Given the description of an element on the screen output the (x, y) to click on. 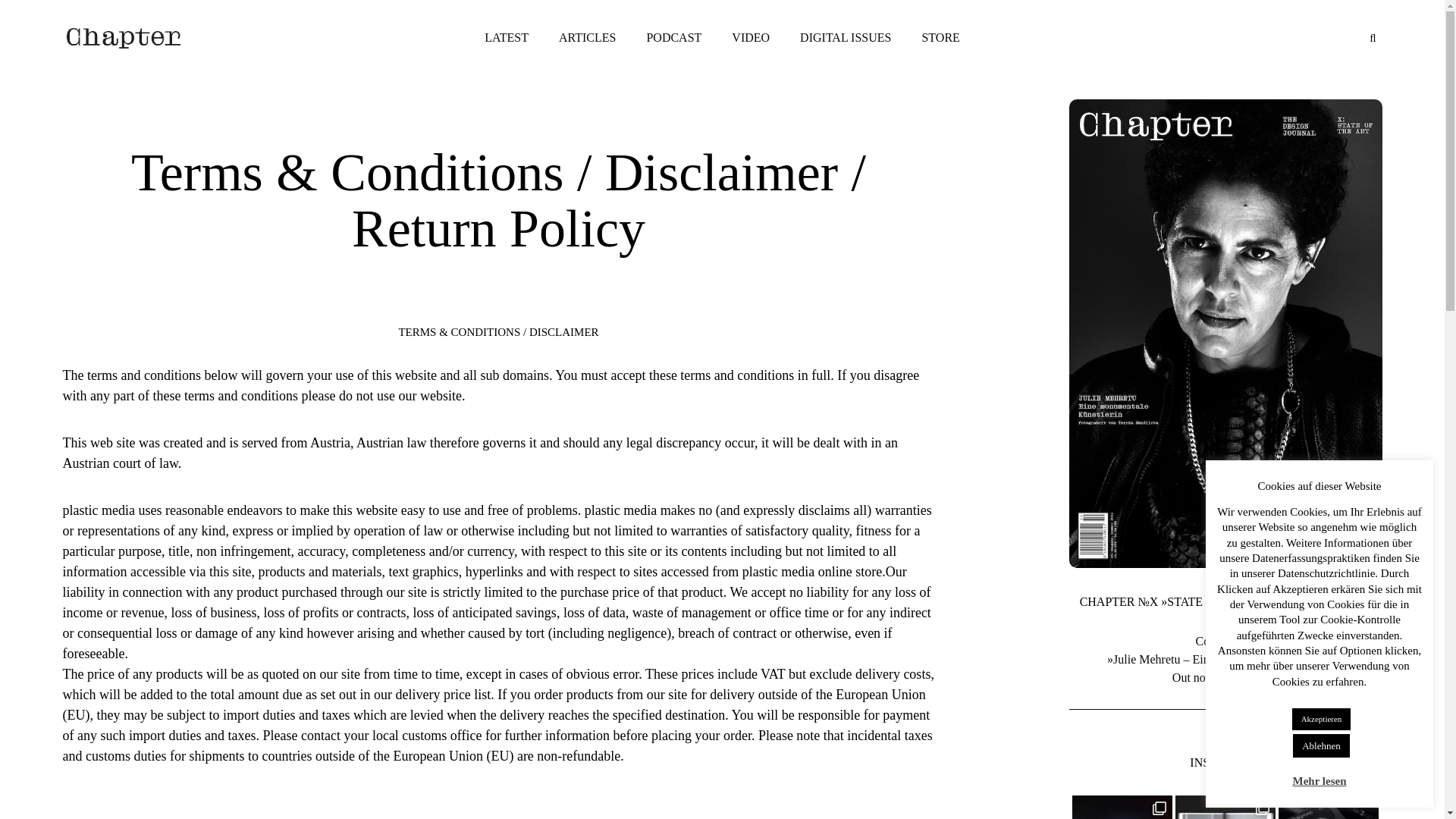
VIDEO (750, 38)
PODCAST (673, 38)
LATEST (505, 38)
STORE (939, 38)
DIGITAL ISSUES (844, 38)
ARTICLES (586, 38)
